Given the description of an element on the screen output the (x, y) to click on. 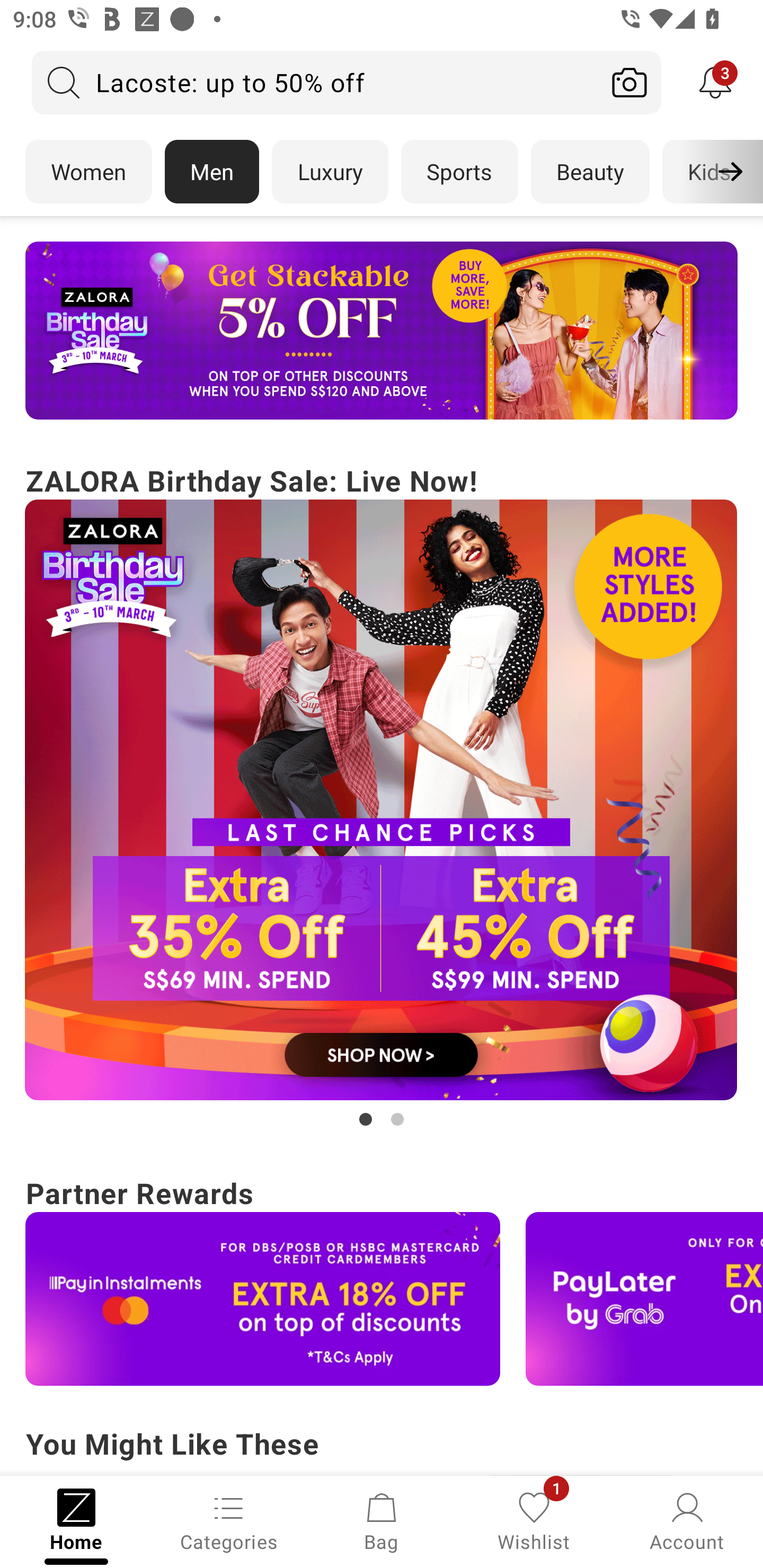
Lacoste: up to 50% off (314, 82)
Women (88, 171)
Men (211, 171)
Luxury (329, 171)
Sports (459, 171)
Beauty (590, 171)
Campaign banner (381, 330)
ZALORA Birthday Sale: Live Now! Campaign banner (381, 794)
Campaign banner (381, 800)
Partner Rewards Campaign banner Campaign banner (381, 1277)
Campaign banner (262, 1299)
Campaign banner (644, 1299)
Categories (228, 1519)
Bag (381, 1519)
Wishlist, 1 new notification Wishlist (533, 1519)
Account (686, 1519)
